Given the description of an element on the screen output the (x, y) to click on. 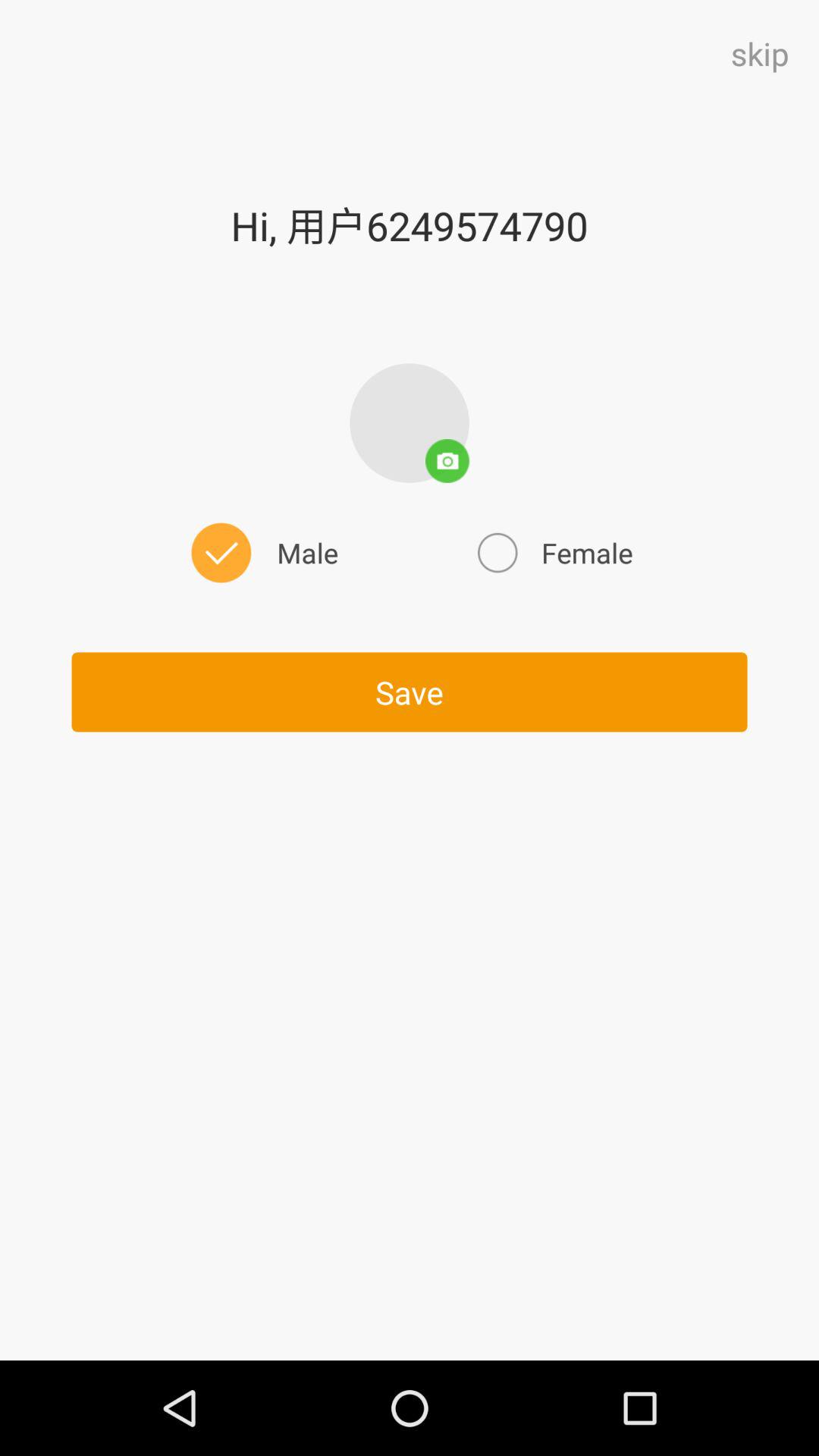
select icon next to the female icon (261, 552)
